Given the description of an element on the screen output the (x, y) to click on. 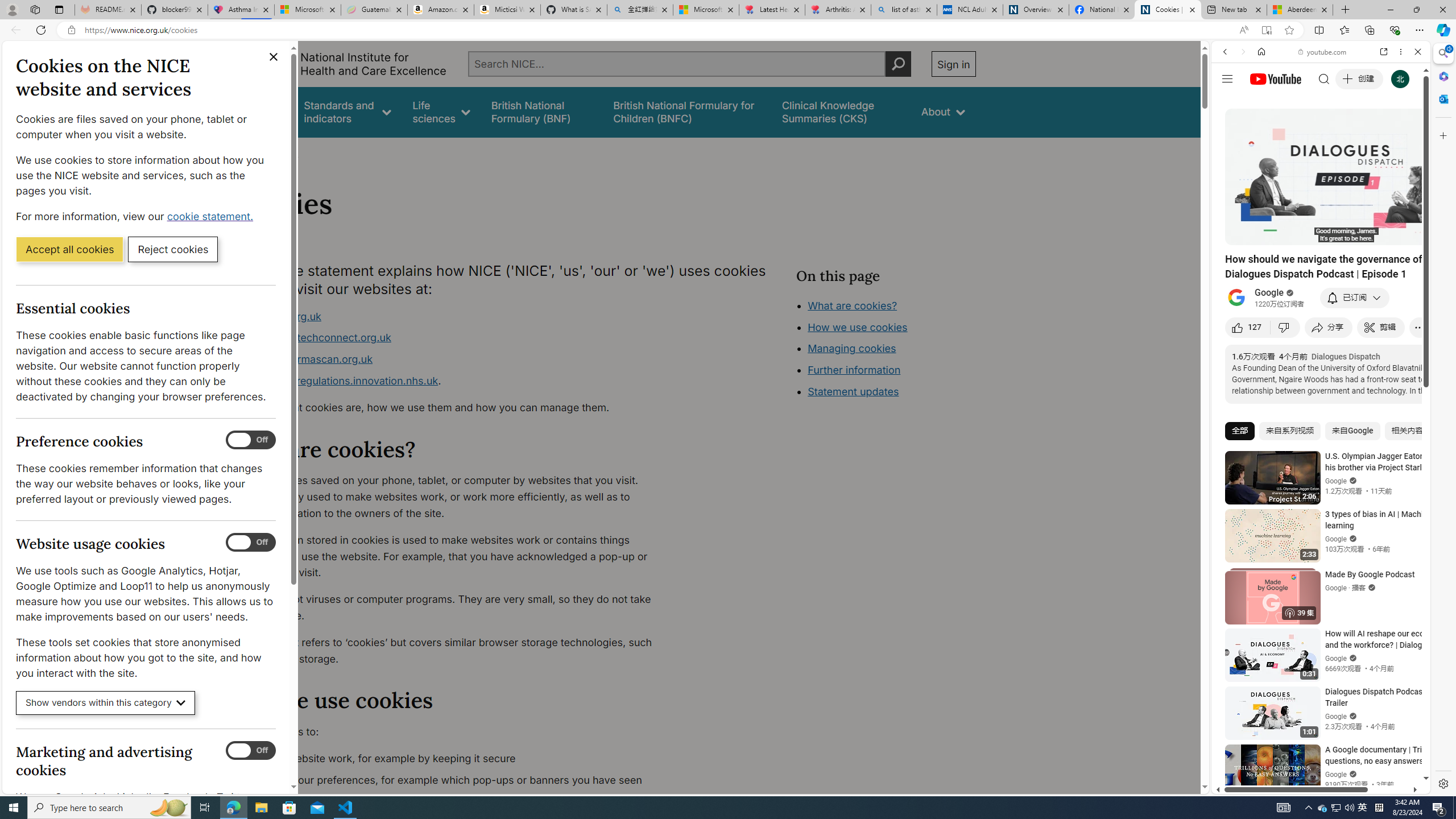
make our website work, for example by keeping it secure (452, 759)
Guidance (260, 111)
Class: dict_pnIcon rms_img (1312, 784)
Sign in (952, 63)
Website usage cookies (250, 542)
NCL Adult Asthma Inhaler Choice Guideline (969, 9)
youtube.com (1322, 51)
